Given the description of an element on the screen output the (x, y) to click on. 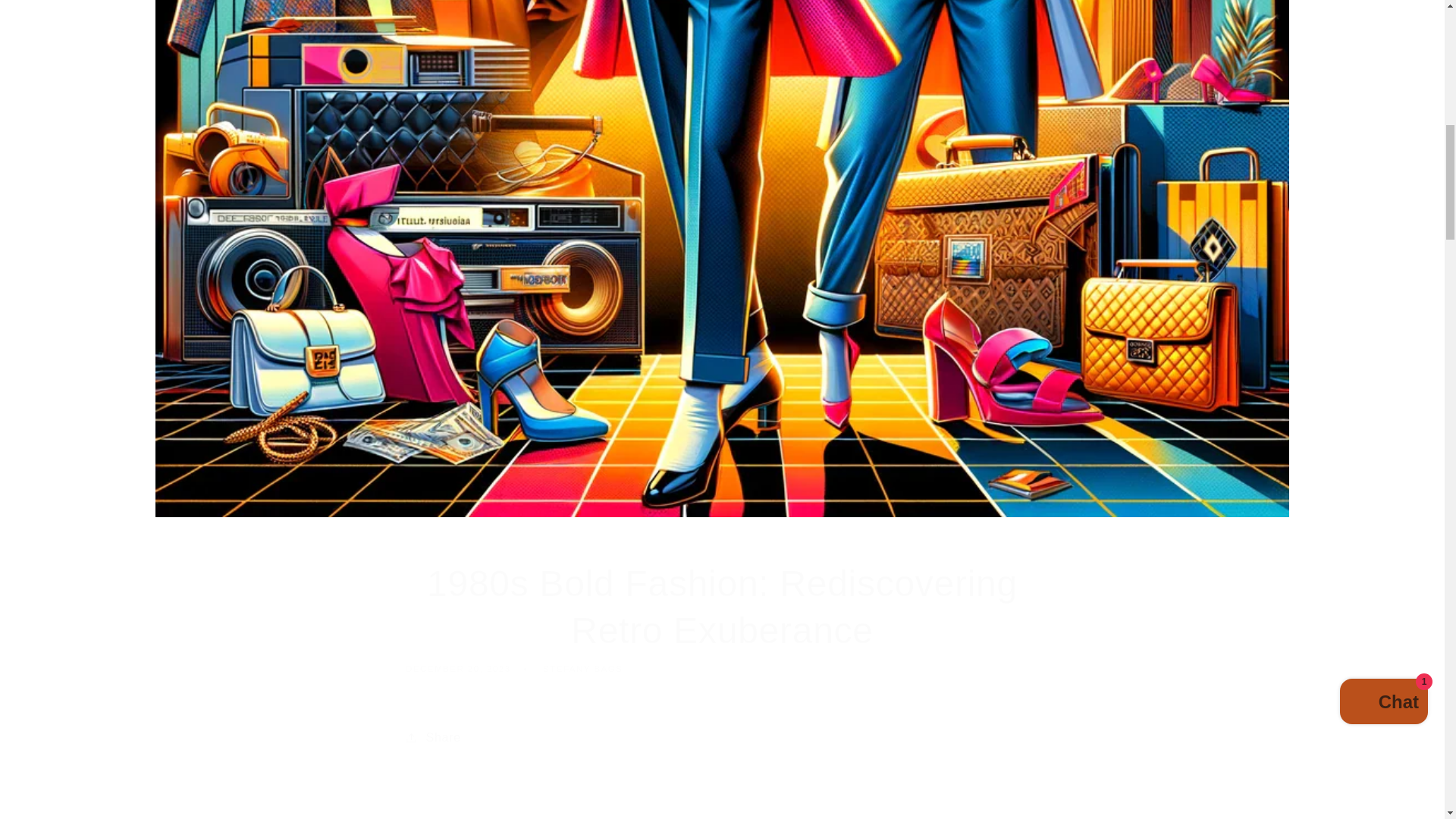
Share (722, 737)
